Given the description of an element on the screen output the (x, y) to click on. 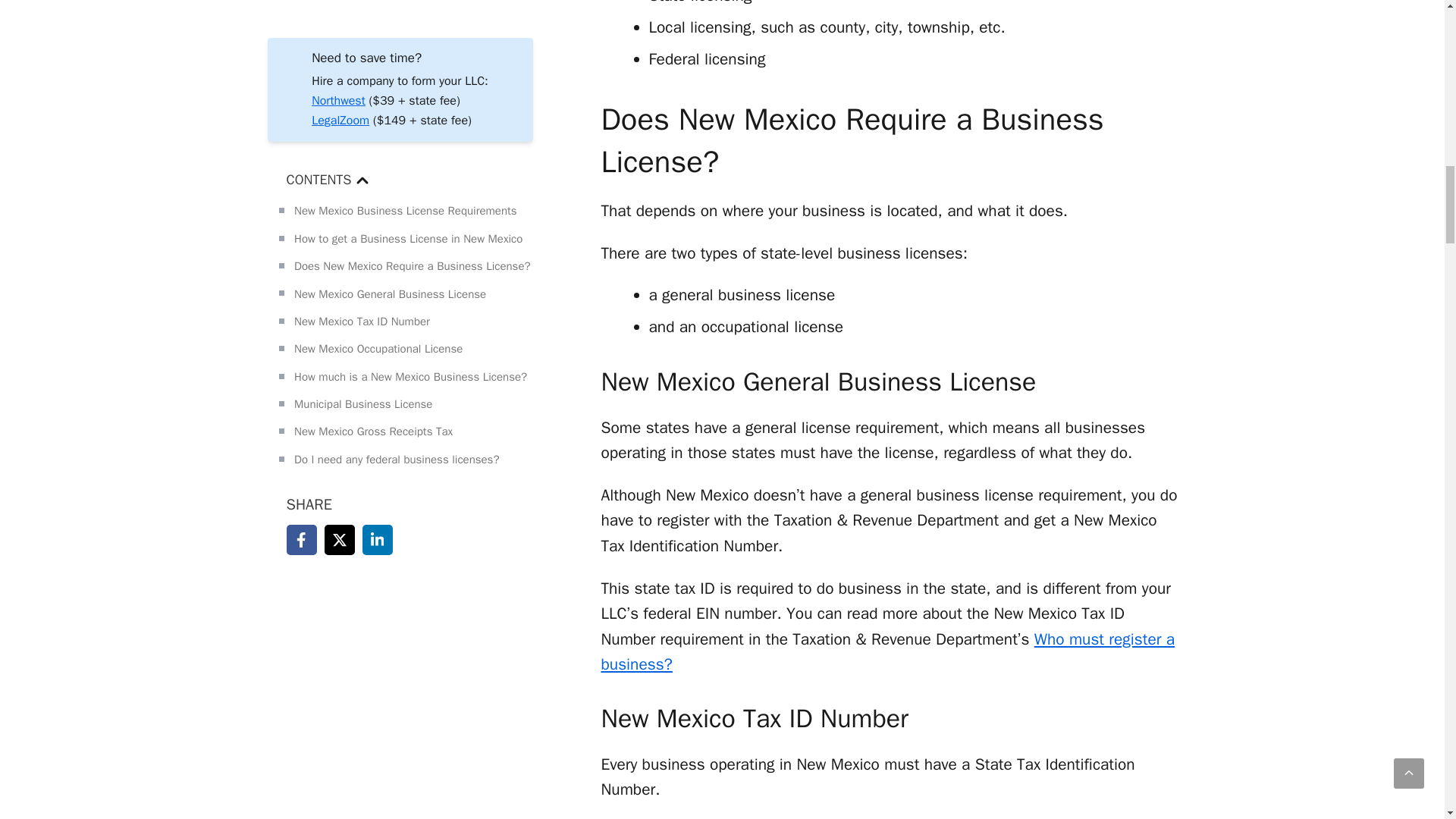
Who must register a business? (886, 651)
